Given the description of an element on the screen output the (x, y) to click on. 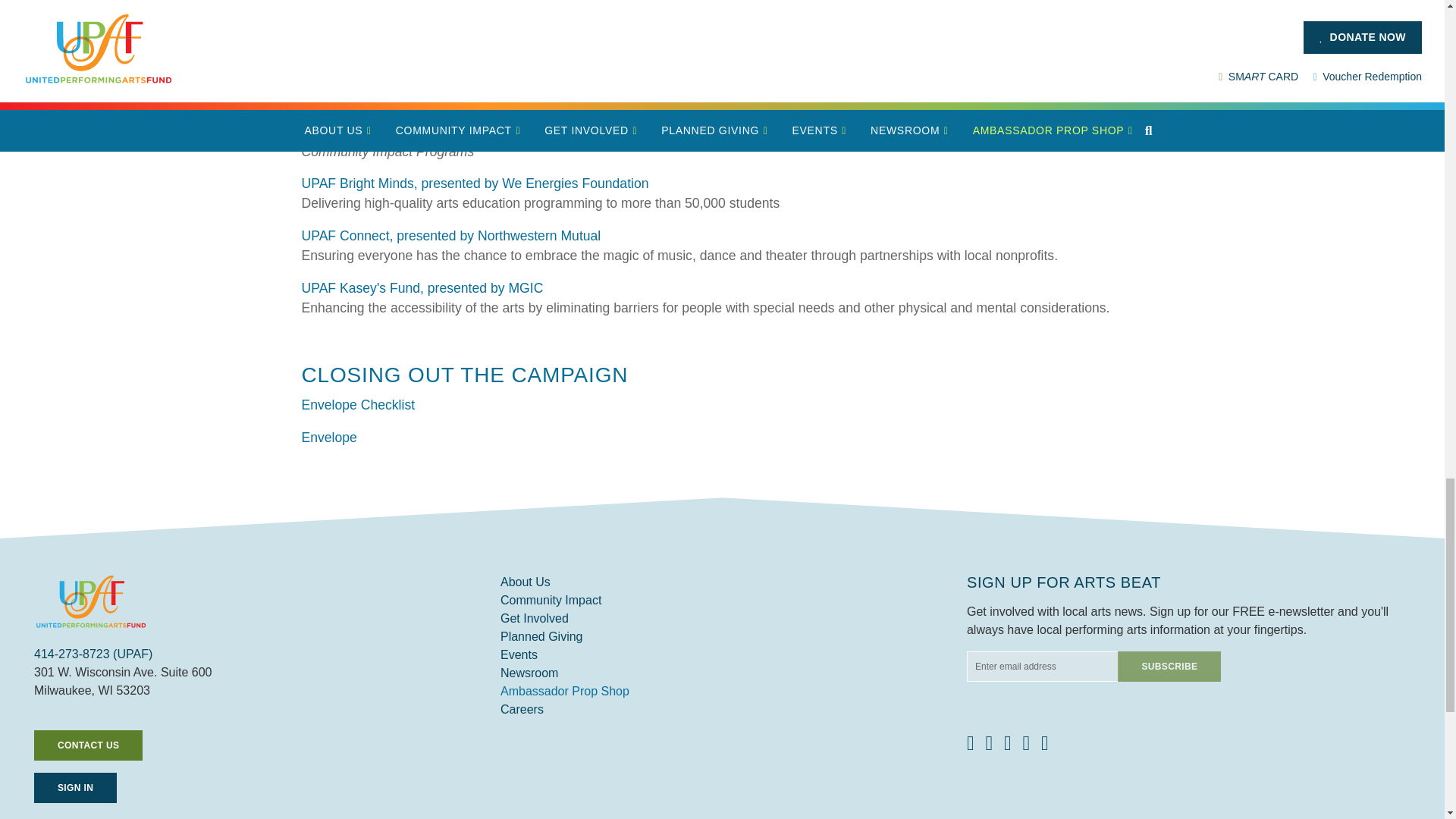
Subscribe (1169, 666)
Enter email address (1042, 666)
